Given the description of an element on the screen output the (x, y) to click on. 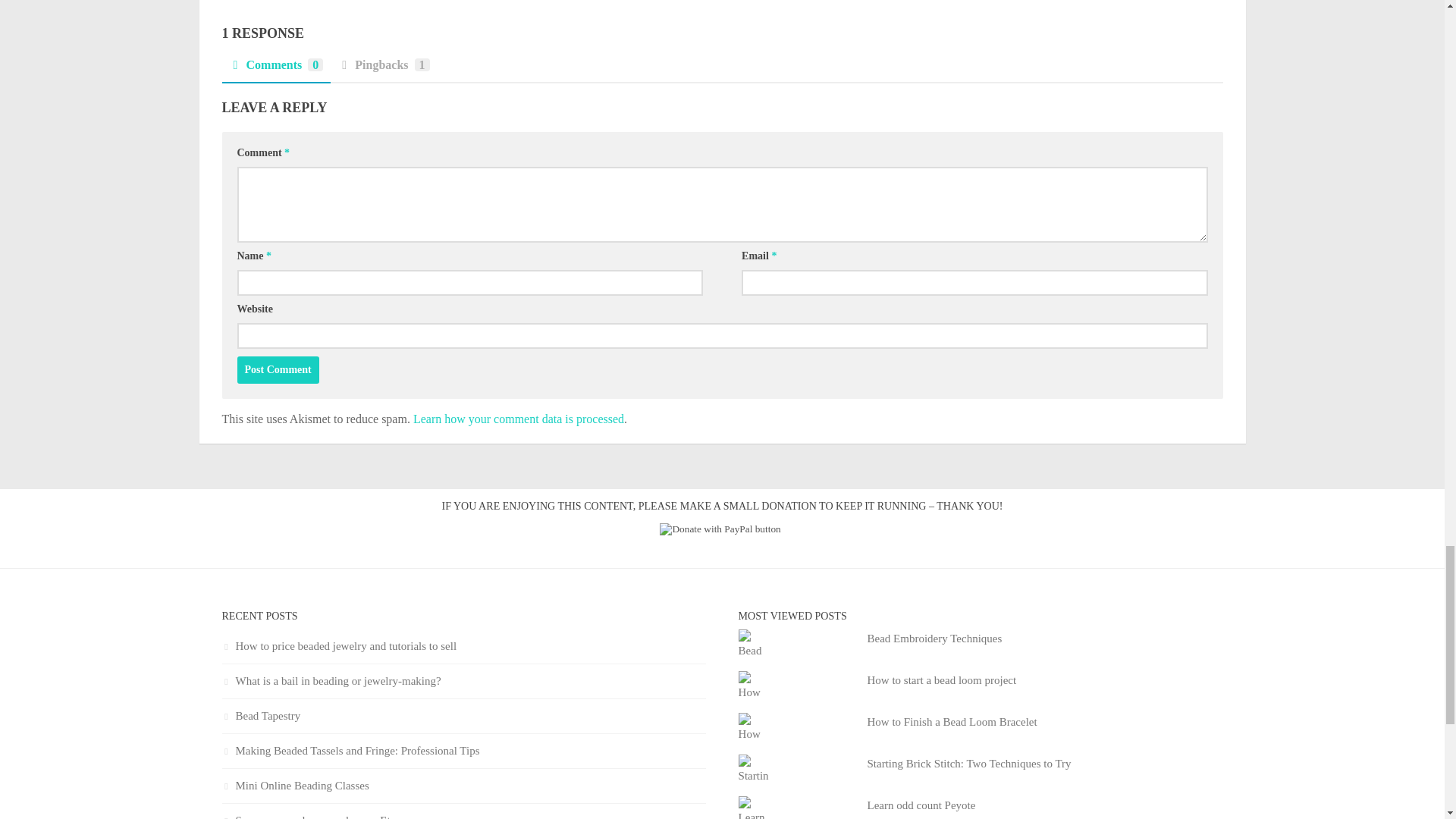
Bead Embroidery Techniques (935, 638)
PayPal - The safer, easier way to pay online! (719, 529)
Post Comment (276, 370)
